Given the description of an element on the screen output the (x, y) to click on. 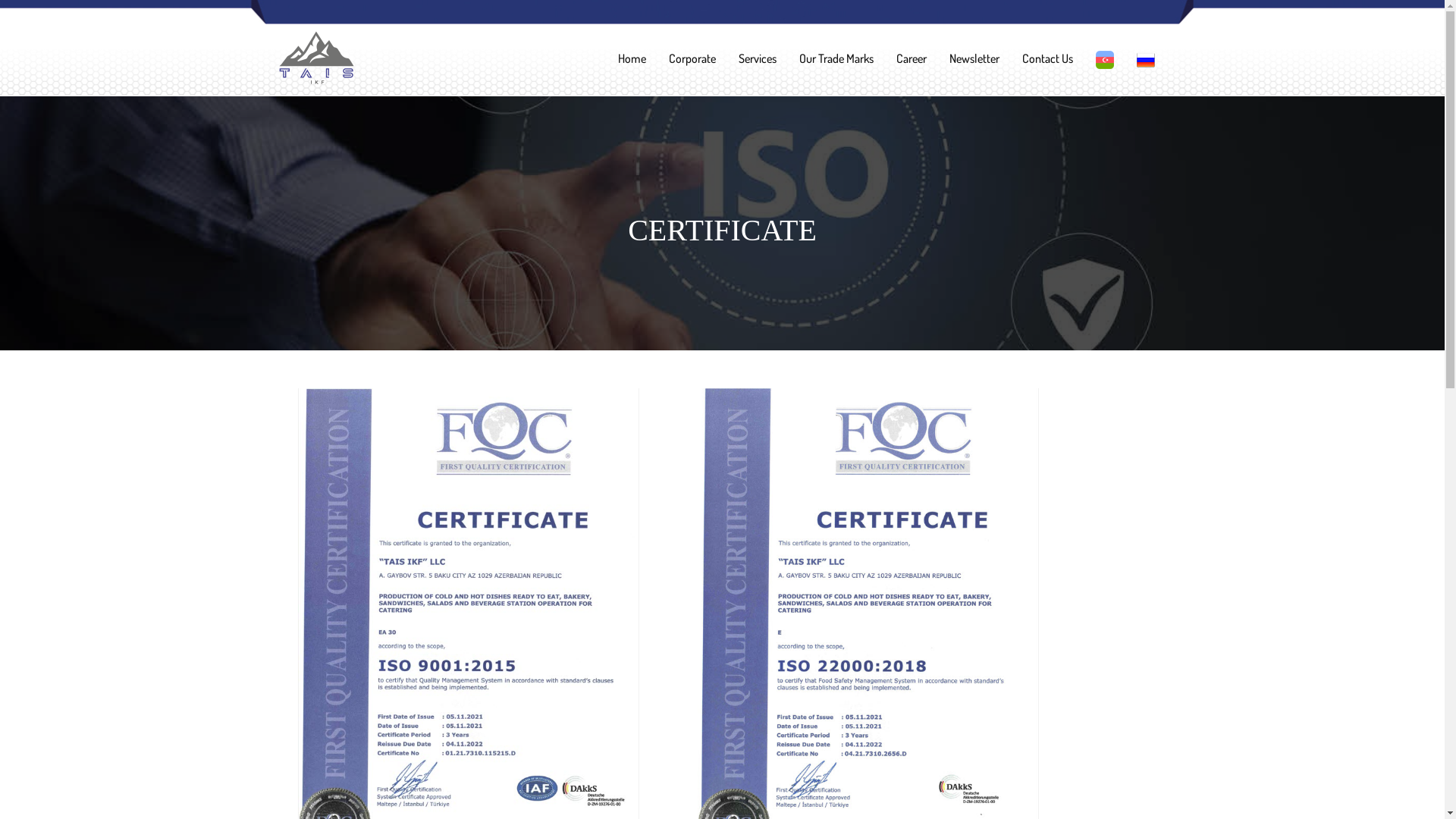
Corporate Element type: text (691, 58)
Russian Element type: hover (1144, 59)
Contact Us Element type: text (1046, 58)
Career Element type: text (910, 58)
TAIS IKF-MMC Element type: hover (316, 57)
Services Element type: text (756, 58)
Our Trade Marks Element type: text (835, 58)
Home Element type: text (631, 58)
Azerbaycan Element type: hover (1104, 59)
Newsletter Element type: text (973, 58)
